Given the description of an element on the screen output the (x, y) to click on. 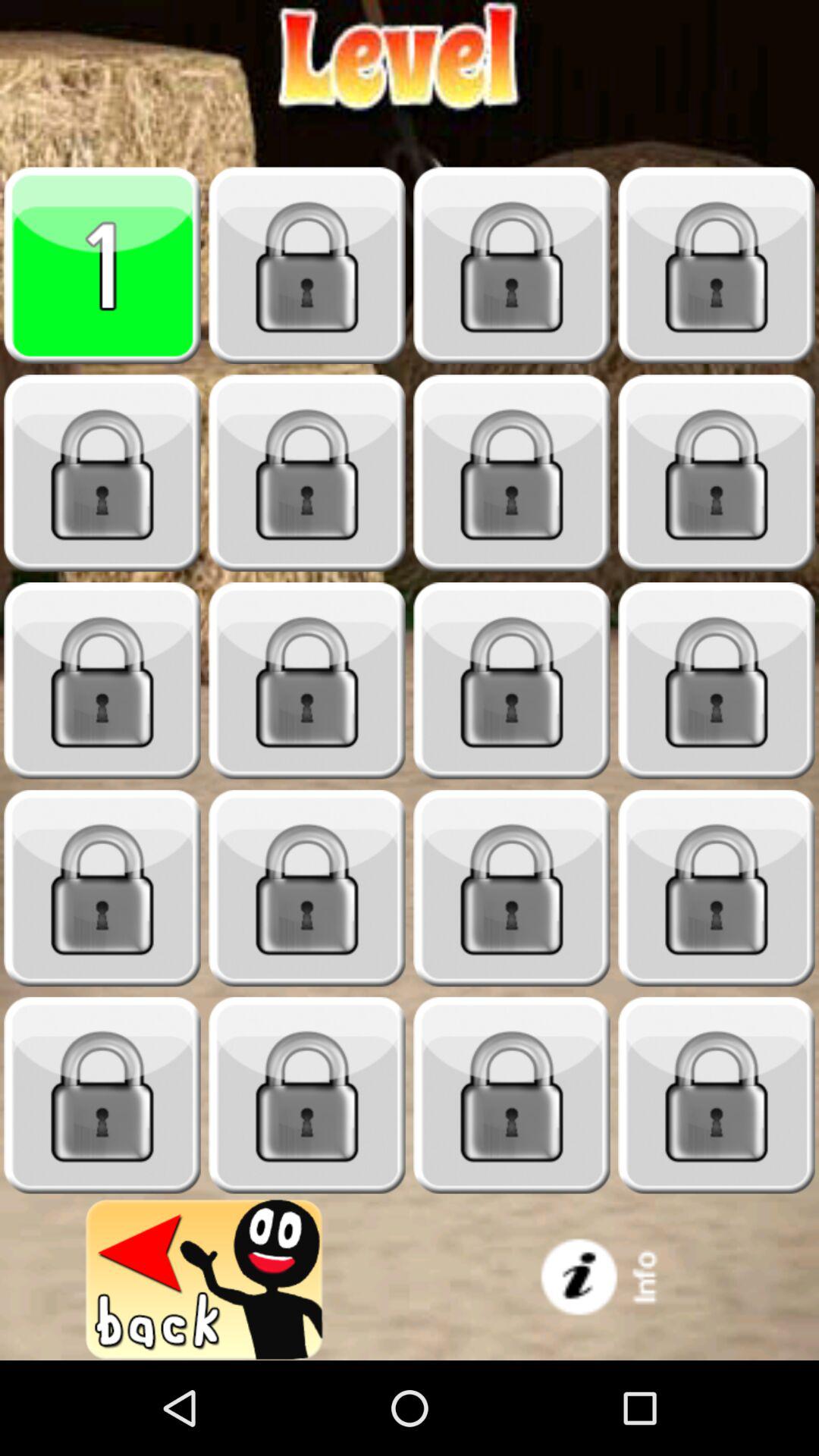
switch level option (102, 1094)
